Given the description of an element on the screen output the (x, y) to click on. 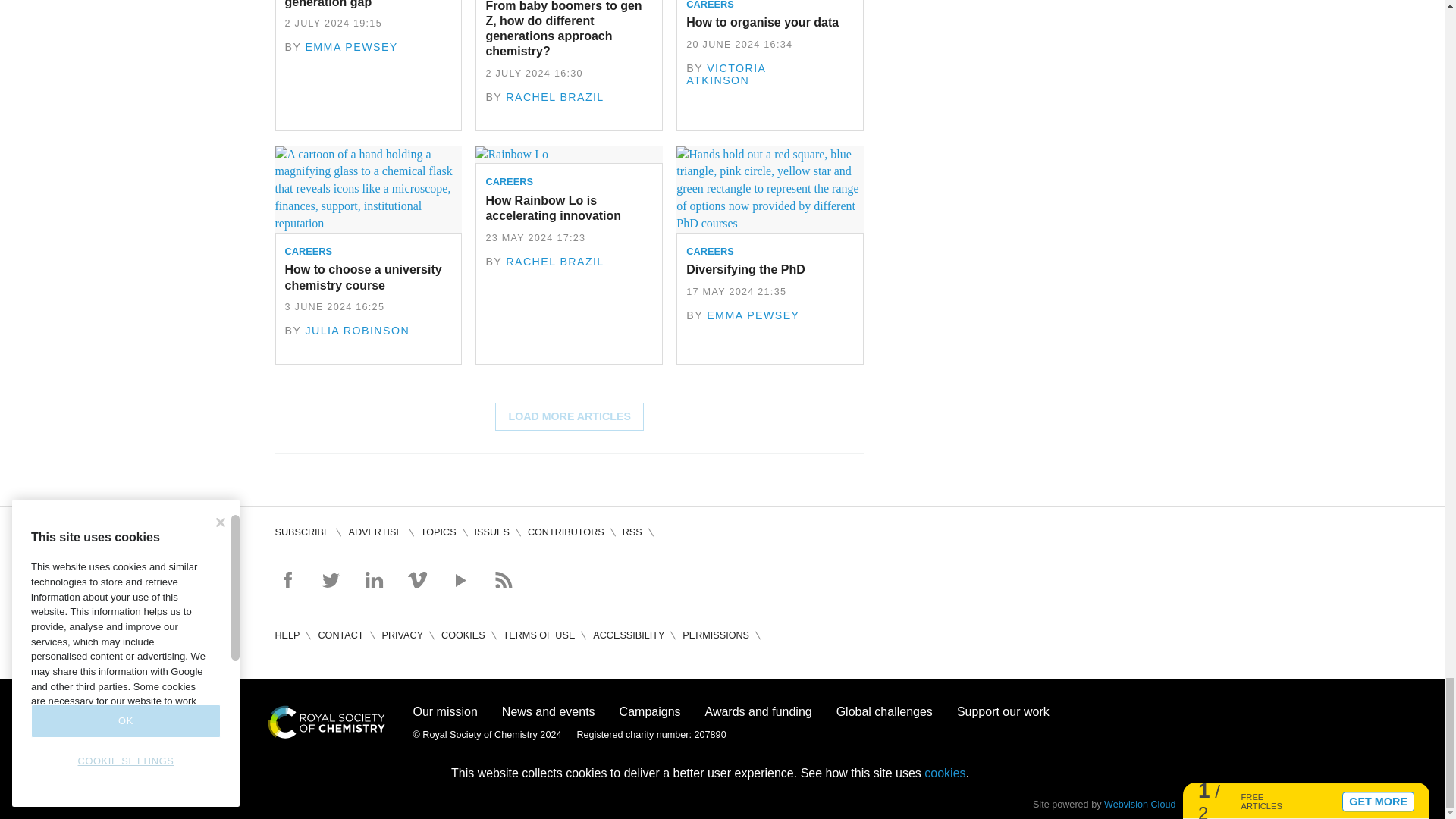
Follow on Twitter (330, 579)
Follow on Facebook (287, 579)
